Given the description of an element on the screen output the (x, y) to click on. 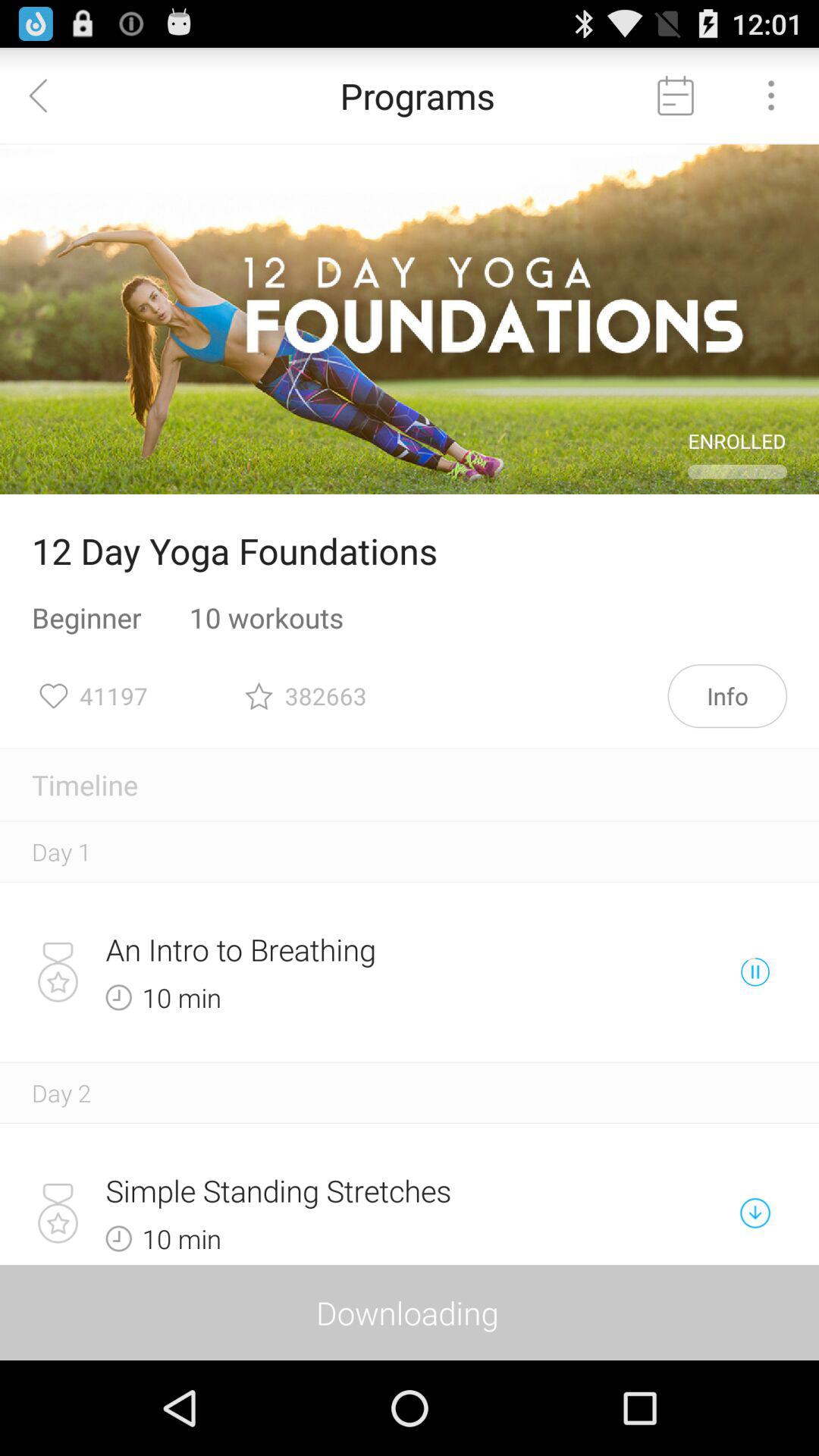
select icon next to programs icon (47, 95)
